Given the description of an element on the screen output the (x, y) to click on. 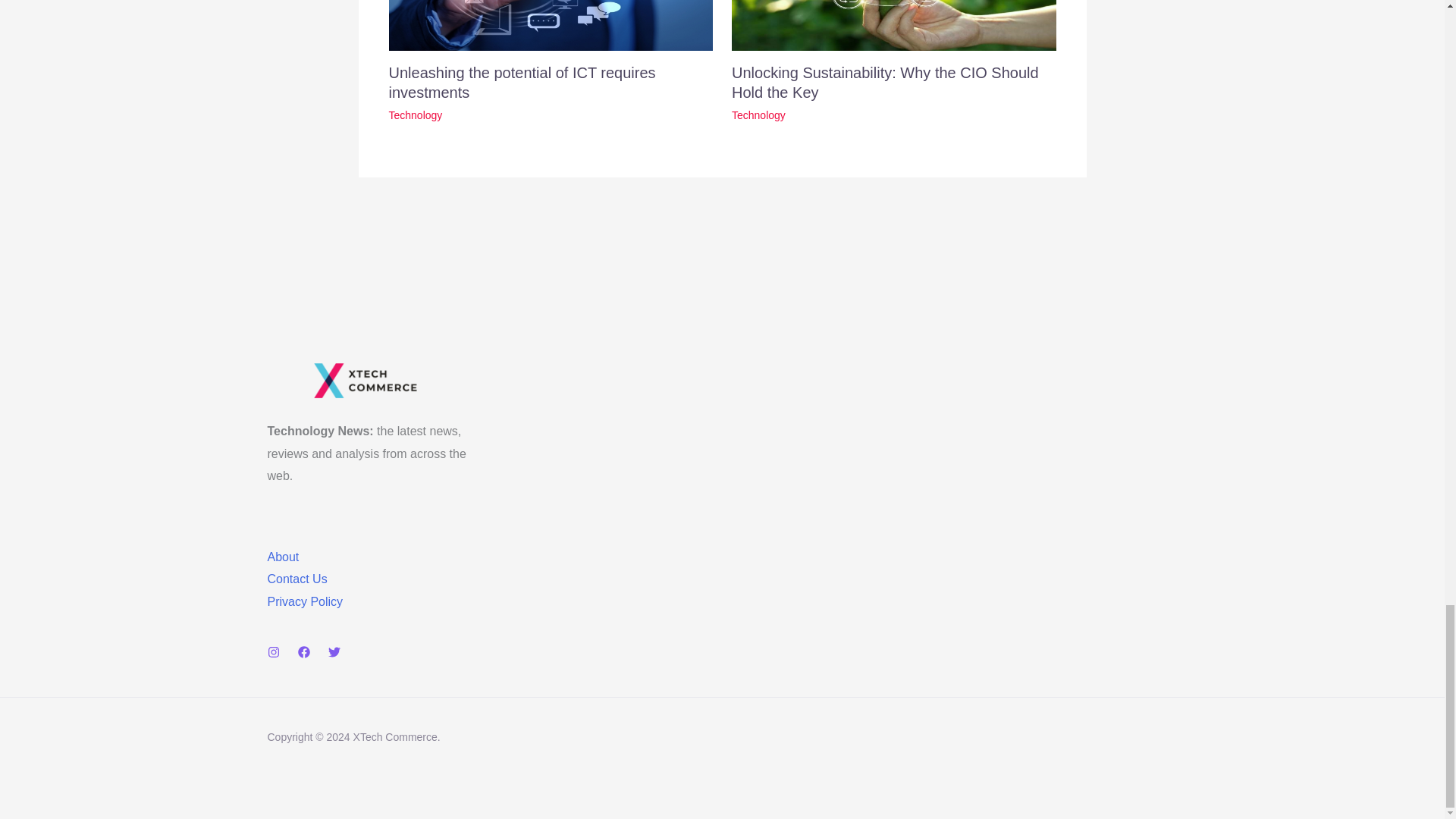
Unleashing the potential of ICT requires investments (521, 82)
Technology (415, 114)
Unlocking Sustainability: Why the CIO Should Hold the Key (885, 82)
Contact Us (296, 578)
Privacy Policy (304, 601)
Technology (759, 114)
About (282, 556)
